Given the description of an element on the screen output the (x, y) to click on. 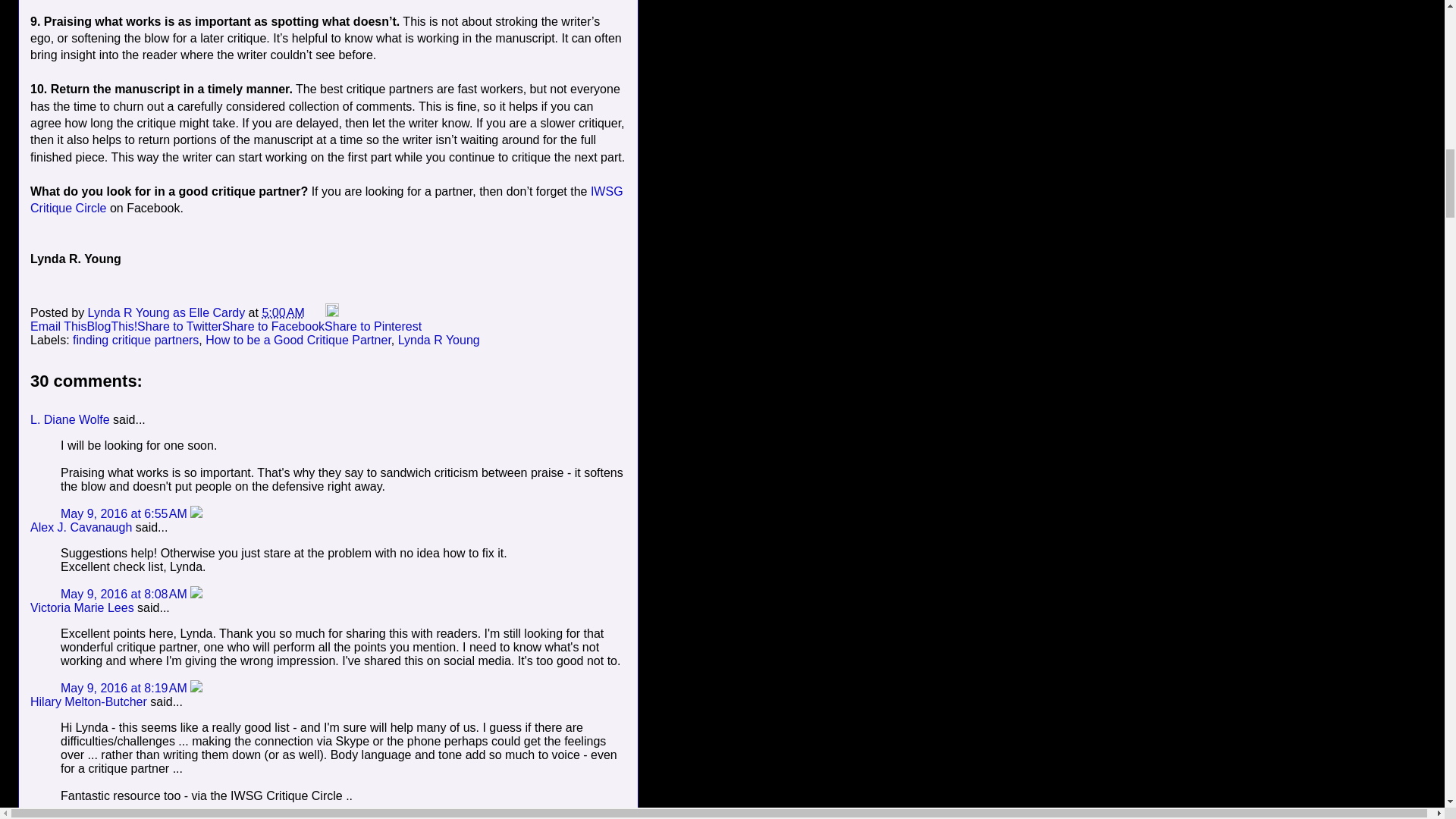
Share to Twitter (179, 326)
author profile (167, 312)
comment permalink (125, 513)
Share to Pinterest (373, 326)
permanent link (283, 312)
How to be a Good Critique Partner (298, 339)
Email Post (315, 312)
comment permalink (125, 594)
Share to Pinterest (373, 326)
finding critique partners (135, 339)
Alex J. Cavanaugh (81, 526)
Share to Twitter (179, 326)
BlogThis! (110, 326)
